Given the description of an element on the screen output the (x, y) to click on. 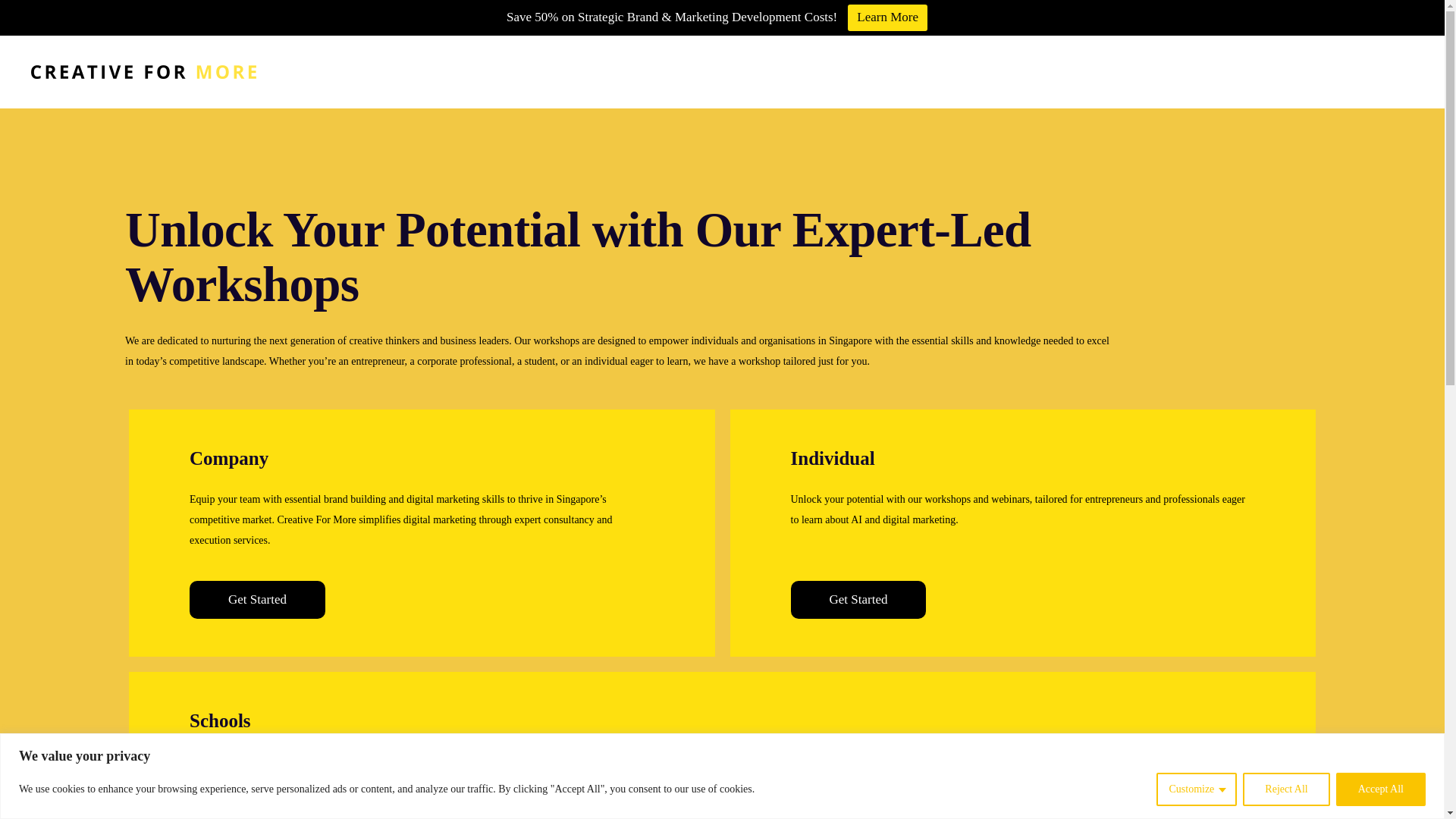
Learn More (887, 17)
Reject All (1286, 788)
Customize (1196, 788)
HOME (726, 72)
CAREERS (1261, 72)
Accept All (1380, 788)
ABOUT US (808, 72)
RESOURCES (1165, 72)
OUR PHOTOSTUDIO (929, 72)
WHAT WE DO (1058, 72)
